Given the description of an element on the screen output the (x, y) to click on. 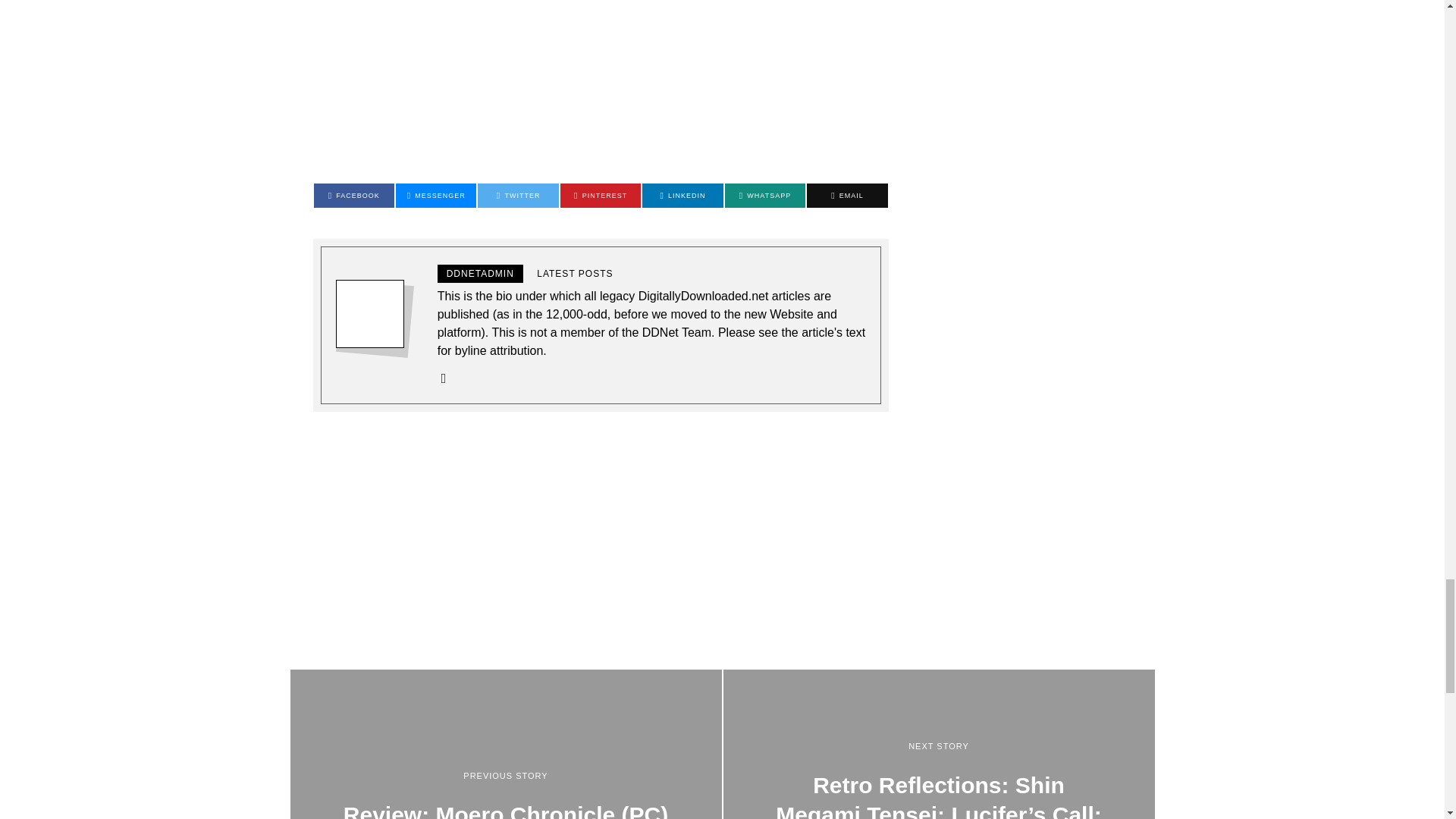
Messenger (436, 195)
Facebook (354, 195)
Twitter (517, 195)
